Given the description of an element on the screen output the (x, y) to click on. 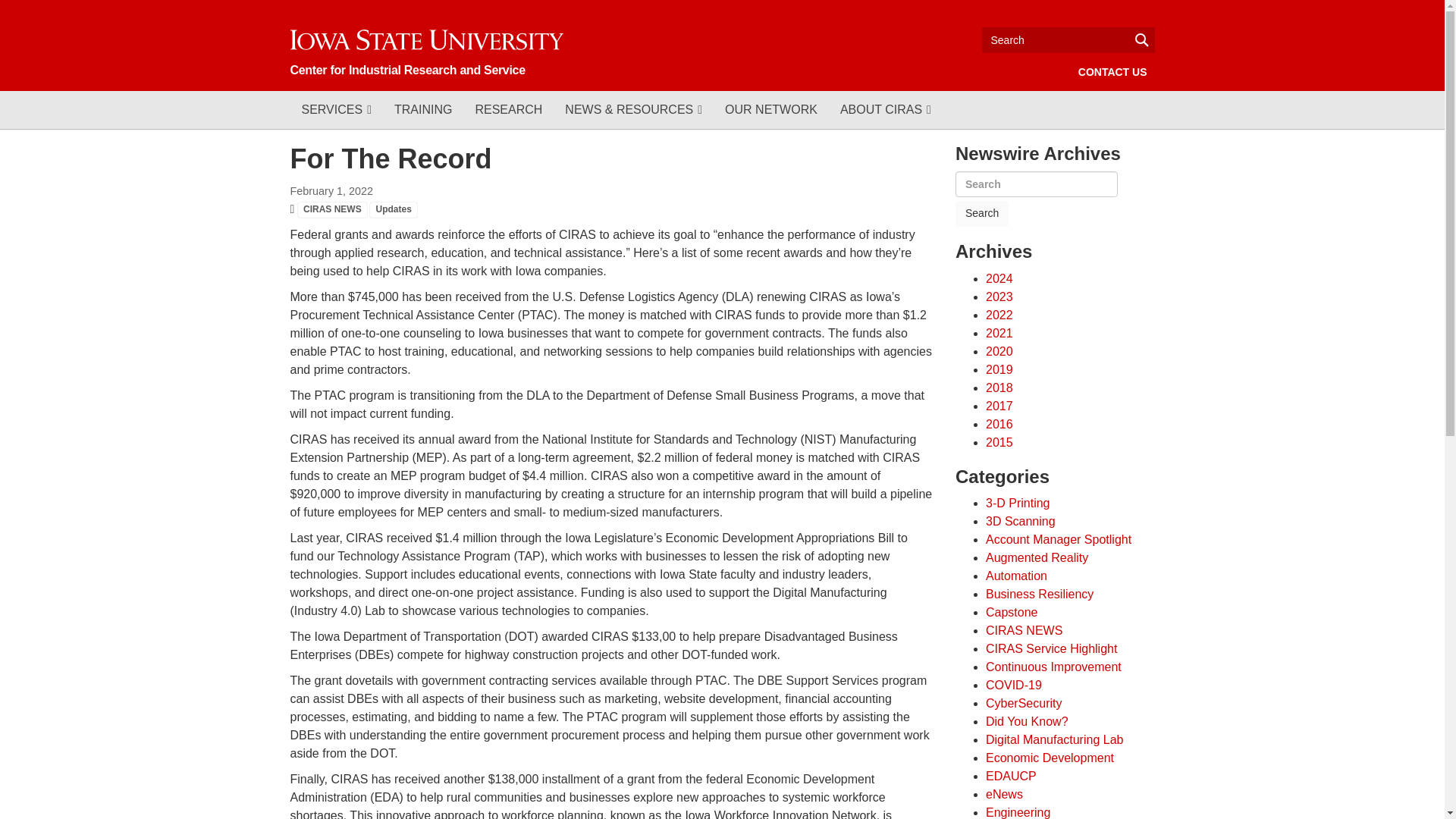
Posted On February 1, 2022 1:29 pm (330, 190)
TRAINING (422, 109)
Search (982, 213)
Search (1067, 40)
Home (425, 50)
CONTACT US (1112, 71)
RESEARCH (508, 109)
Search (982, 213)
SERVICES (335, 109)
